Given the description of an element on the screen output the (x, y) to click on. 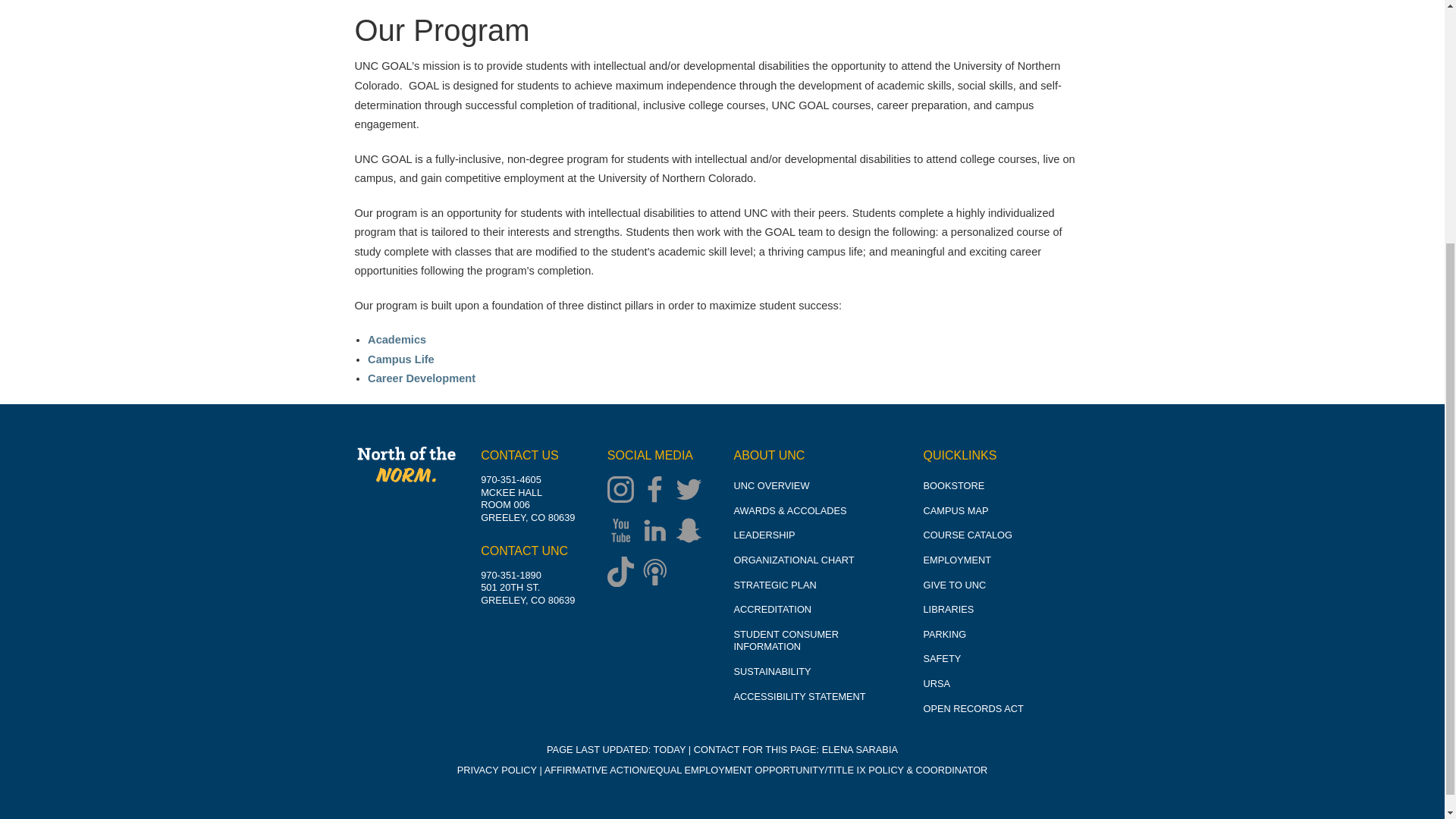
Instagram (624, 490)
Bear in Mind Podcast (658, 573)
Catalog (509, 4)
Library (509, 101)
Visit Campus (418, 112)
LinkedIn (658, 532)
Virtual Tour (418, 139)
Research (509, 75)
Search (1067, 25)
Schedule of Classes (509, 22)
